Given the description of an element on the screen output the (x, y) to click on. 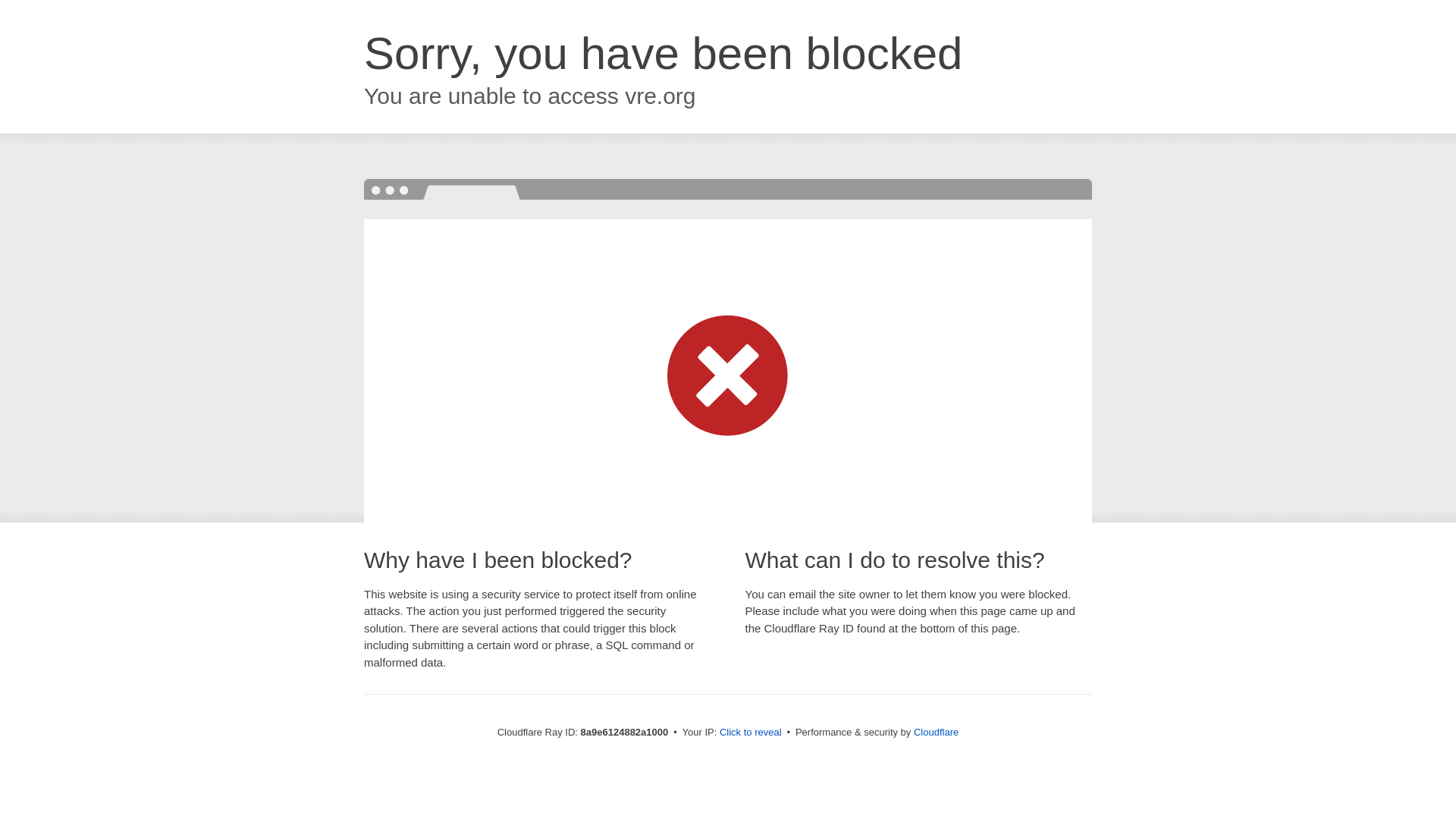
Cloudflare (936, 731)
Click to reveal (750, 732)
